Given the description of an element on the screen output the (x, y) to click on. 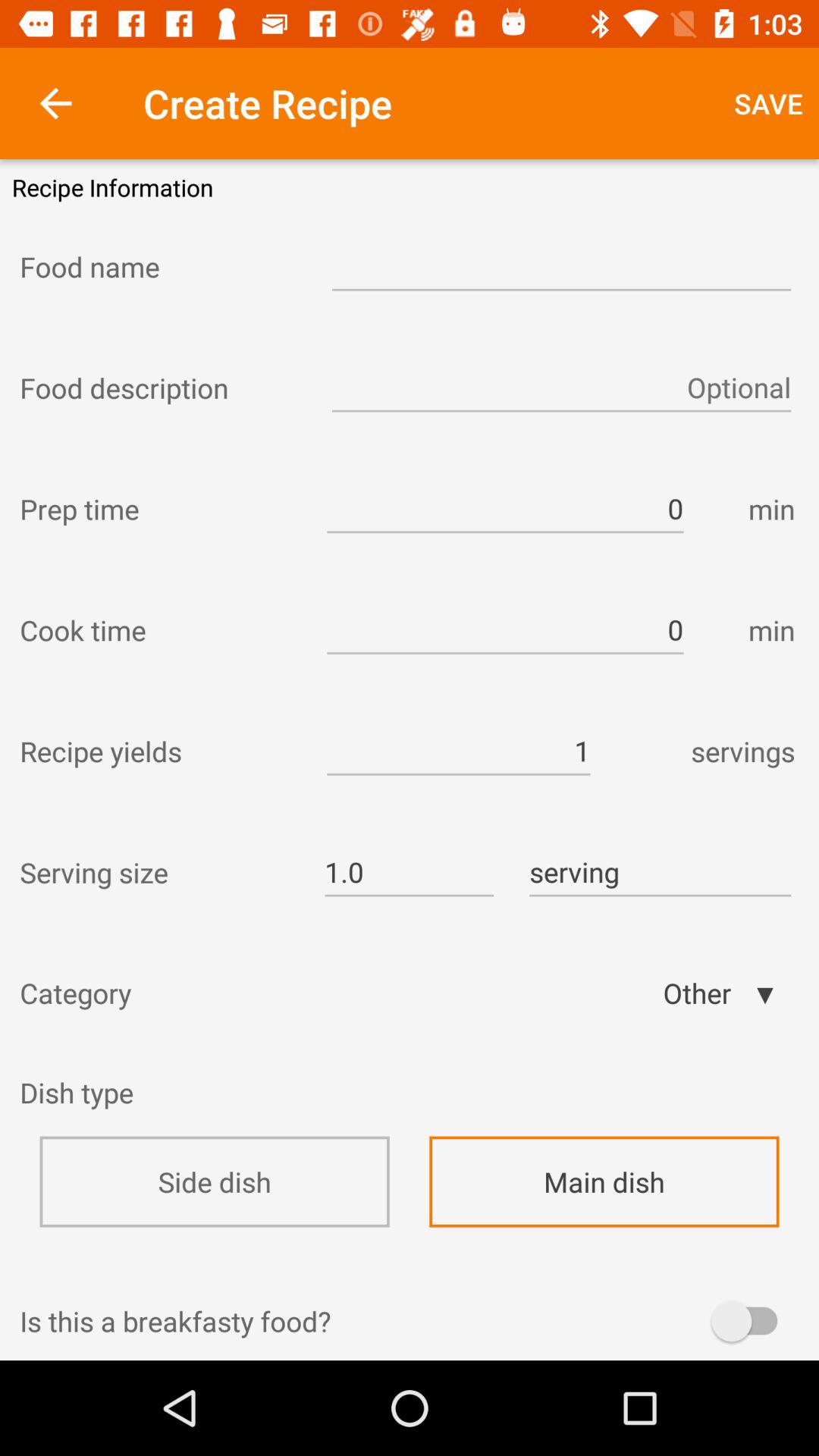
press main dish app (604, 1181)
